Given the description of an element on the screen output the (x, y) to click on. 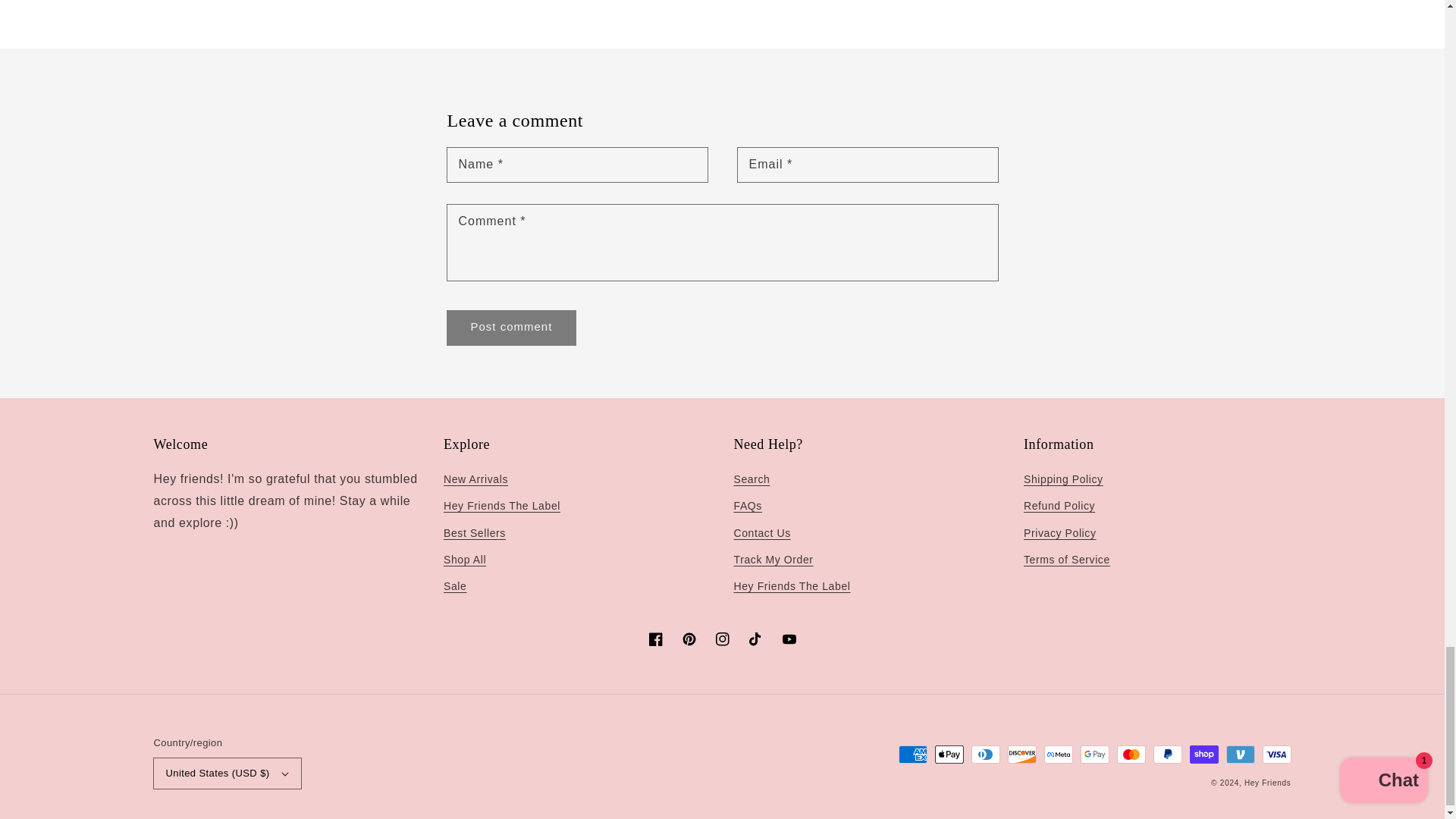
Post comment (511, 327)
